Given the description of an element on the screen output the (x, y) to click on. 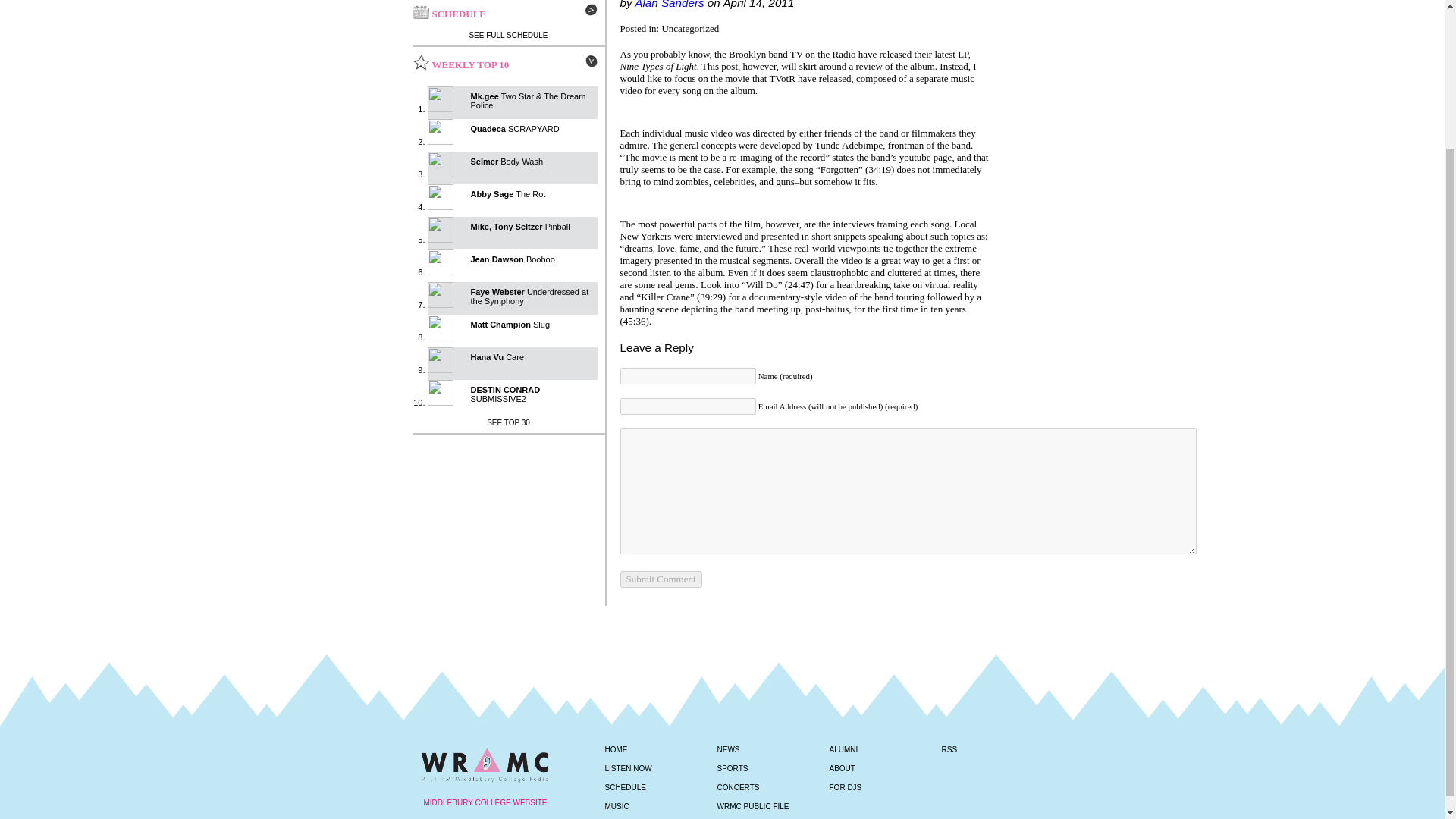
SEE FULL SCHEDULE (508, 35)
RSS (722, 754)
MIDDLEBURY COLLEGE WEBSITE (484, 795)
Submit Comment (660, 579)
LISTEN NOW (628, 768)
HOME (616, 749)
Submit Comment (660, 579)
NEWS (728, 749)
SPORTS (732, 768)
SCHEDULE (625, 786)
ALUMNI (844, 749)
CONCERTS (738, 786)
MUSIC (616, 806)
Alan Sanders (668, 4)
Posts by Alan Sanders (668, 4)
